Given the description of an element on the screen output the (x, y) to click on. 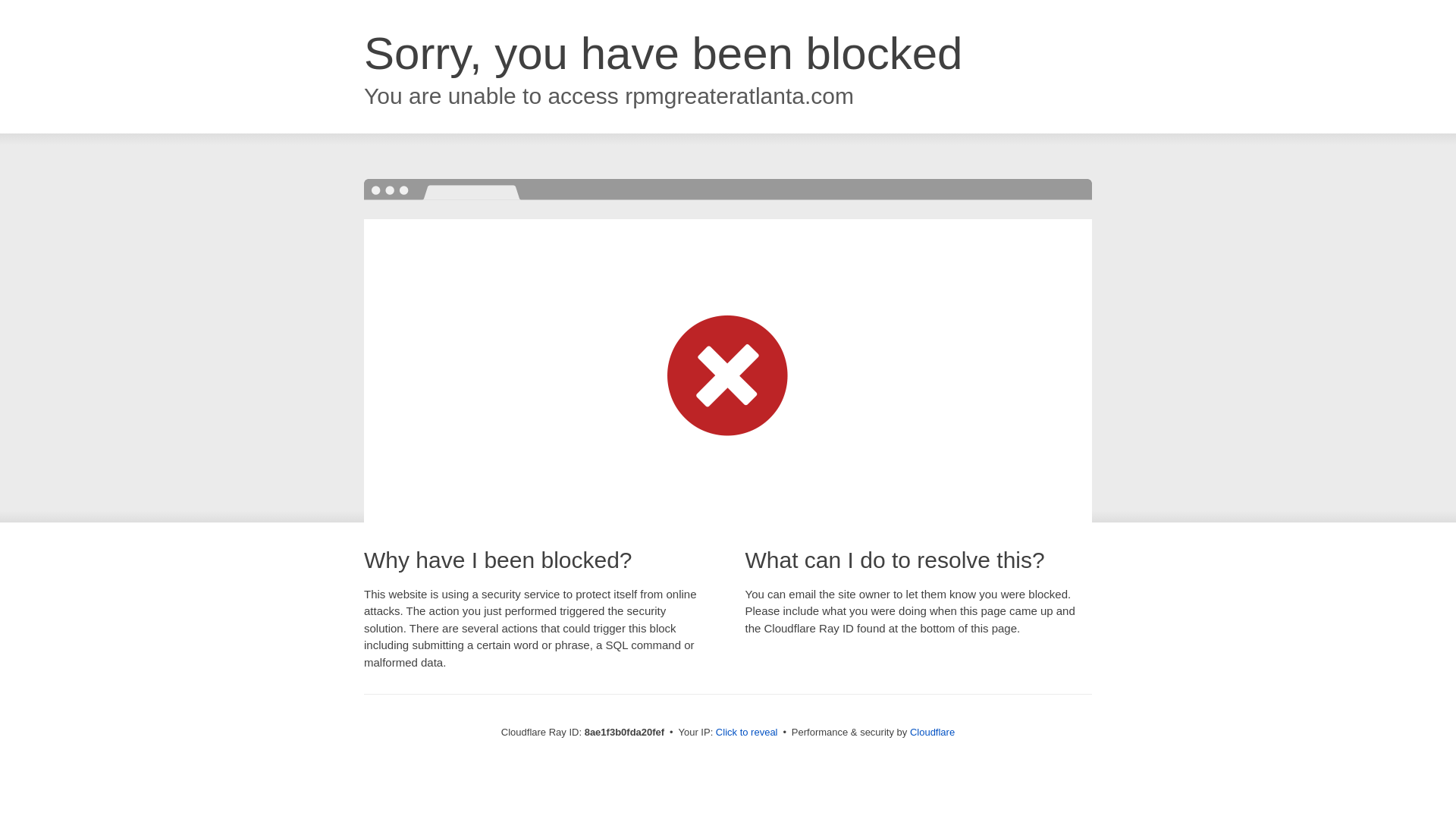
Cloudflare (932, 731)
Click to reveal (746, 732)
